Given the description of an element on the screen output the (x, y) to click on. 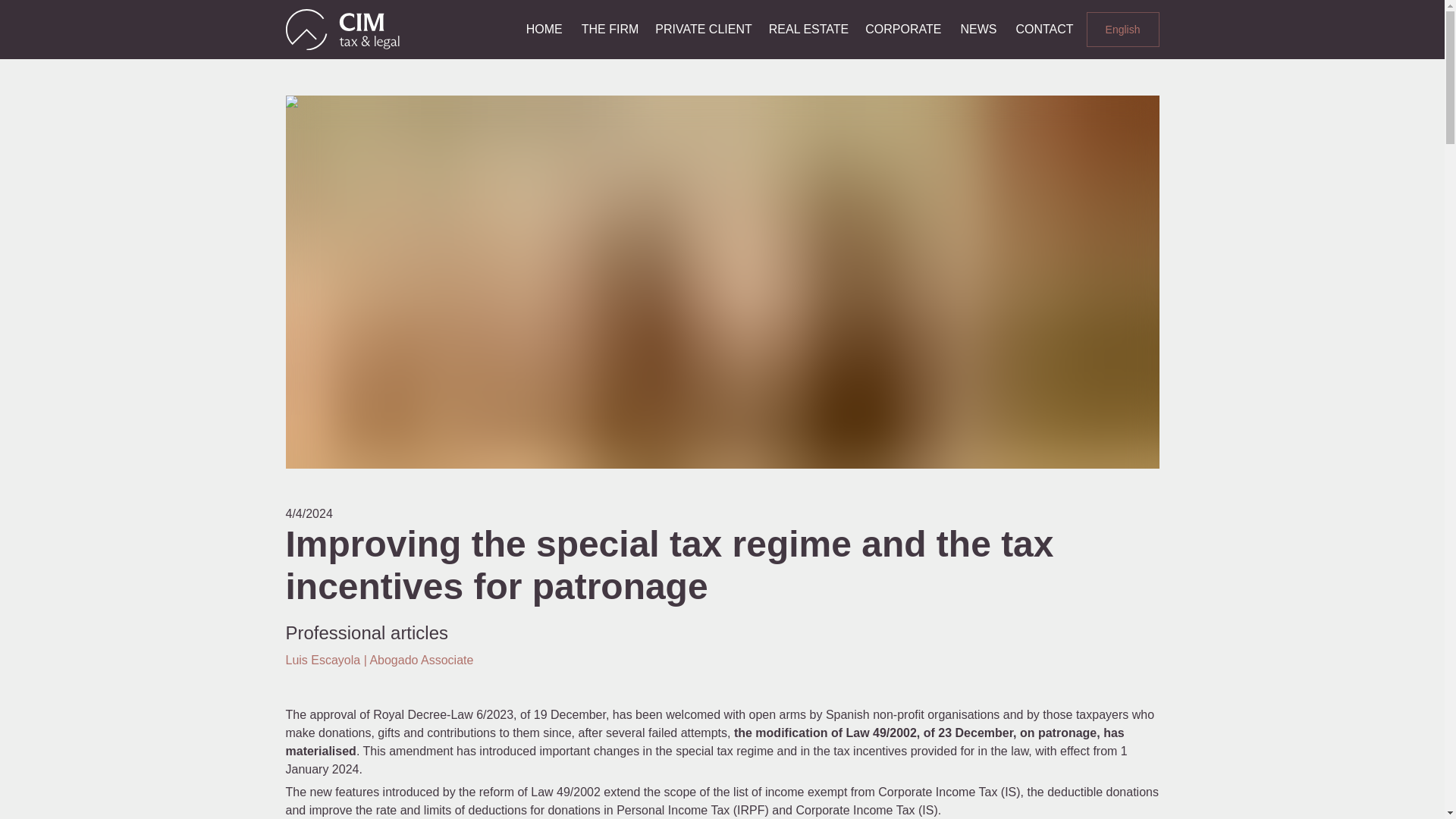
NEWS (978, 29)
THE FIRM (610, 29)
PRIVATE CLIENT (702, 29)
CORPORATE (902, 29)
HOME (544, 29)
English (1122, 29)
CONTACT (1044, 29)
REAL ESTATE (809, 29)
